Given the description of an element on the screen output the (x, y) to click on. 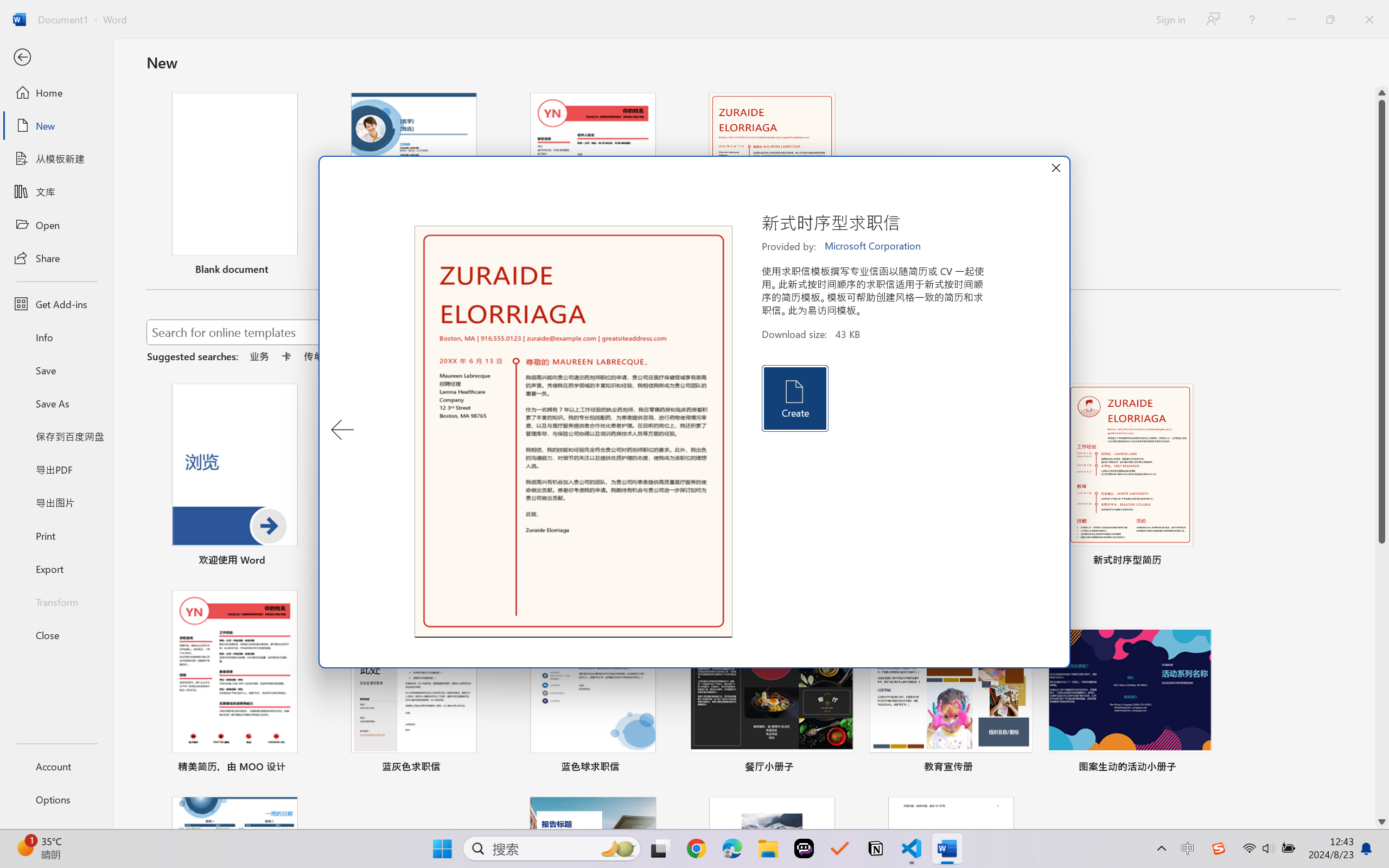
Save As (56, 403)
Account (56, 765)
Line up (1382, 92)
Preview (573, 431)
Pin to list (1200, 767)
Previous Template (342, 430)
Microsoft Edge (731, 848)
